Given the description of an element on the screen output the (x, y) to click on. 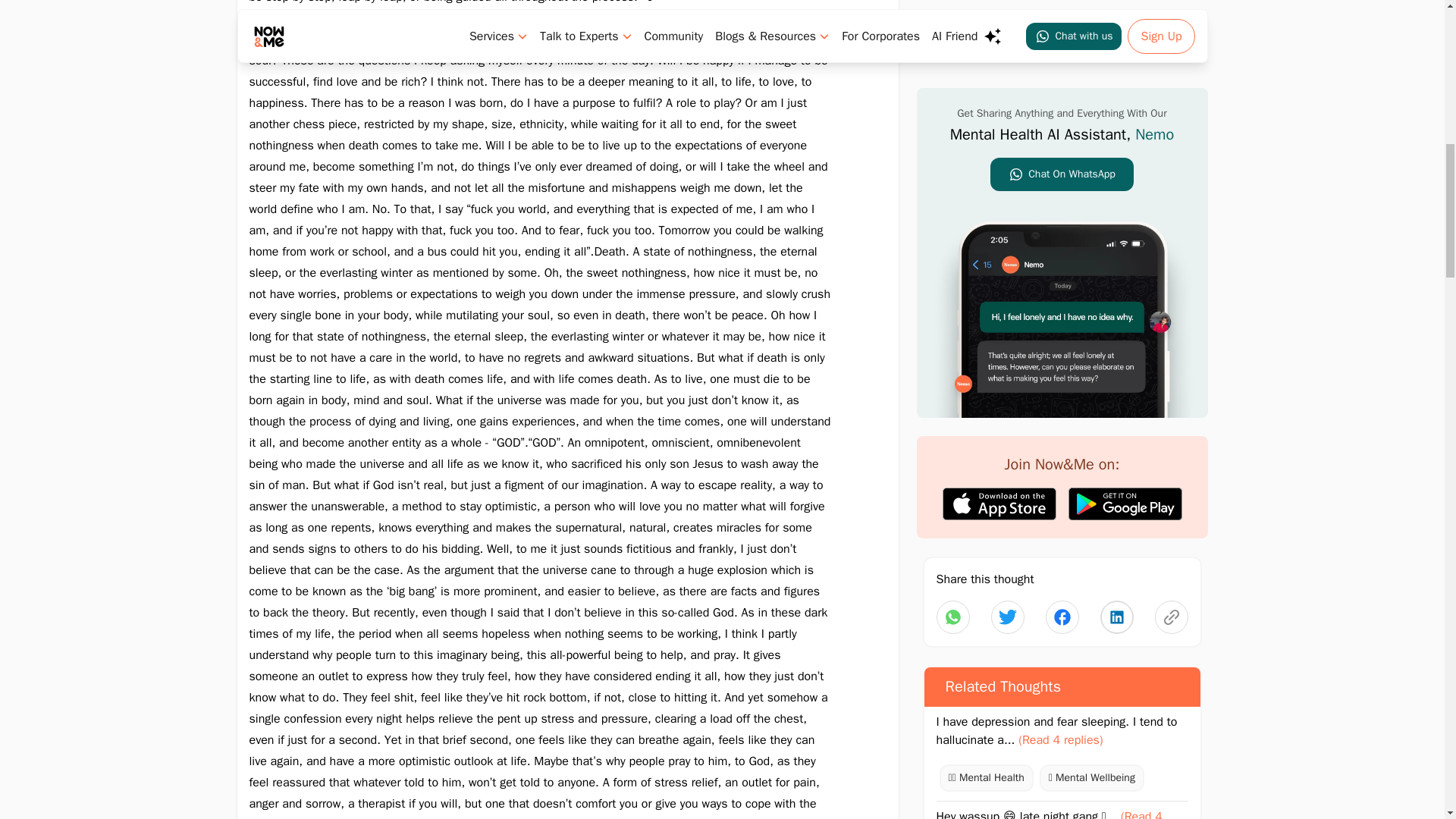
Share on Twitter (1115, 260)
Share on WhatsApp (952, 260)
Share on Twitter (1061, 260)
Share on Twitter (1006, 260)
